Given the description of an element on the screen output the (x, y) to click on. 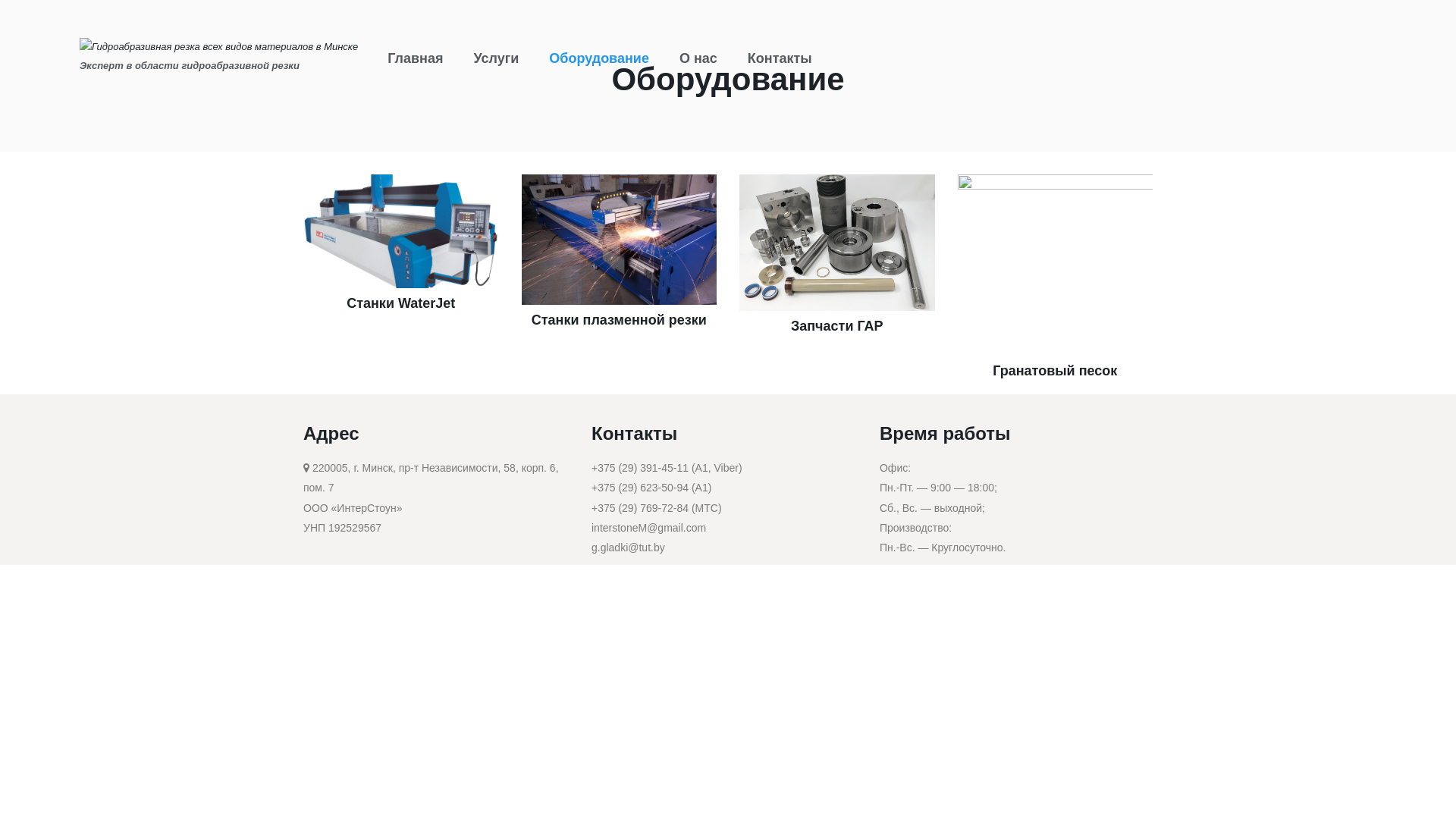
+375 (29) 391-45-11 (A1, Viber) Element type: text (666, 467)
interstoneM@gmail.com Element type: text (648, 527)
+375 (29) 623-50-94 (A1) Element type: text (651, 487)
g.gladki@tut.by Element type: text (628, 547)
